Given the description of an element on the screen output the (x, y) to click on. 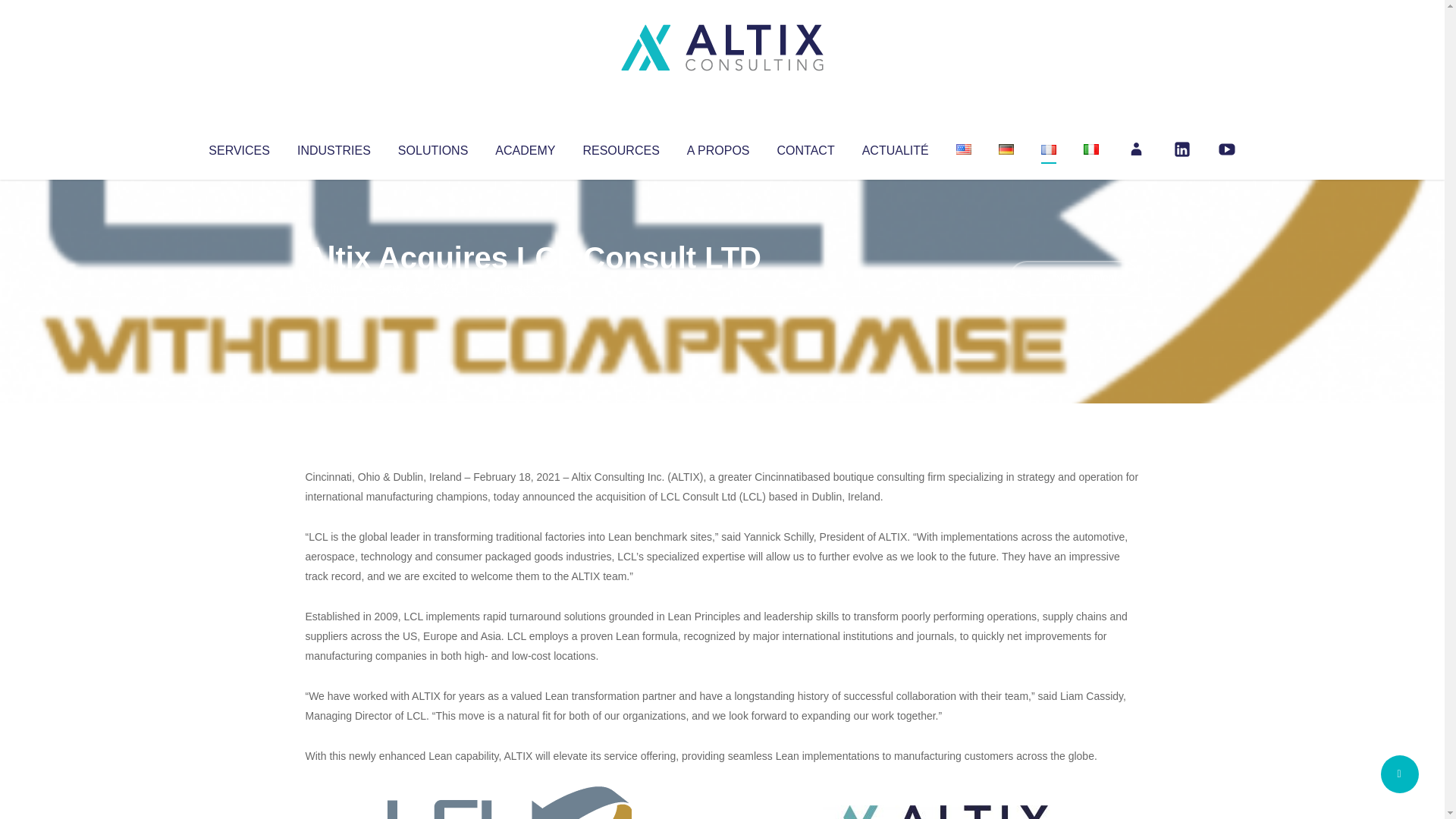
RESOURCES (620, 146)
ACADEMY (524, 146)
No Comments (1073, 278)
INDUSTRIES (334, 146)
Articles par Altix (333, 287)
SERVICES (238, 146)
Uncategorized (530, 287)
SOLUTIONS (432, 146)
Altix (333, 287)
A PROPOS (718, 146)
